Given the description of an element on the screen output the (x, y) to click on. 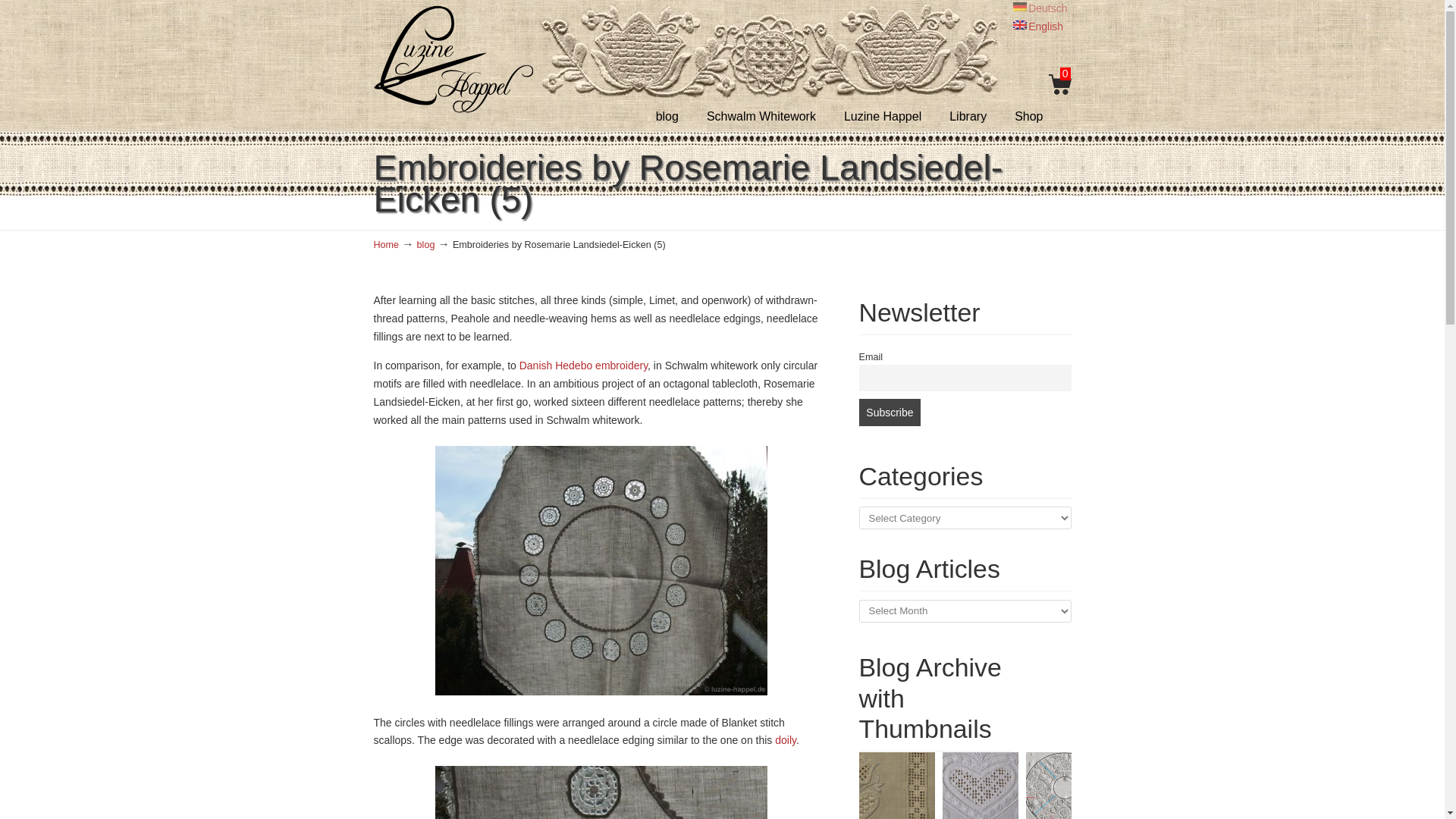
Home (385, 244)
Luzine Happel (452, 58)
Luzine Happel (882, 116)
Luzine Happel (452, 58)
Subscribe (889, 411)
Danish Hedebo embroidery (583, 365)
Deutsch (1040, 8)
blog (425, 244)
Subscribe (889, 411)
Shop (1028, 116)
English (1037, 26)
Schwalm Whitework (761, 116)
doily (785, 739)
Library (967, 116)
blog (667, 116)
